Given the description of an element on the screen output the (x, y) to click on. 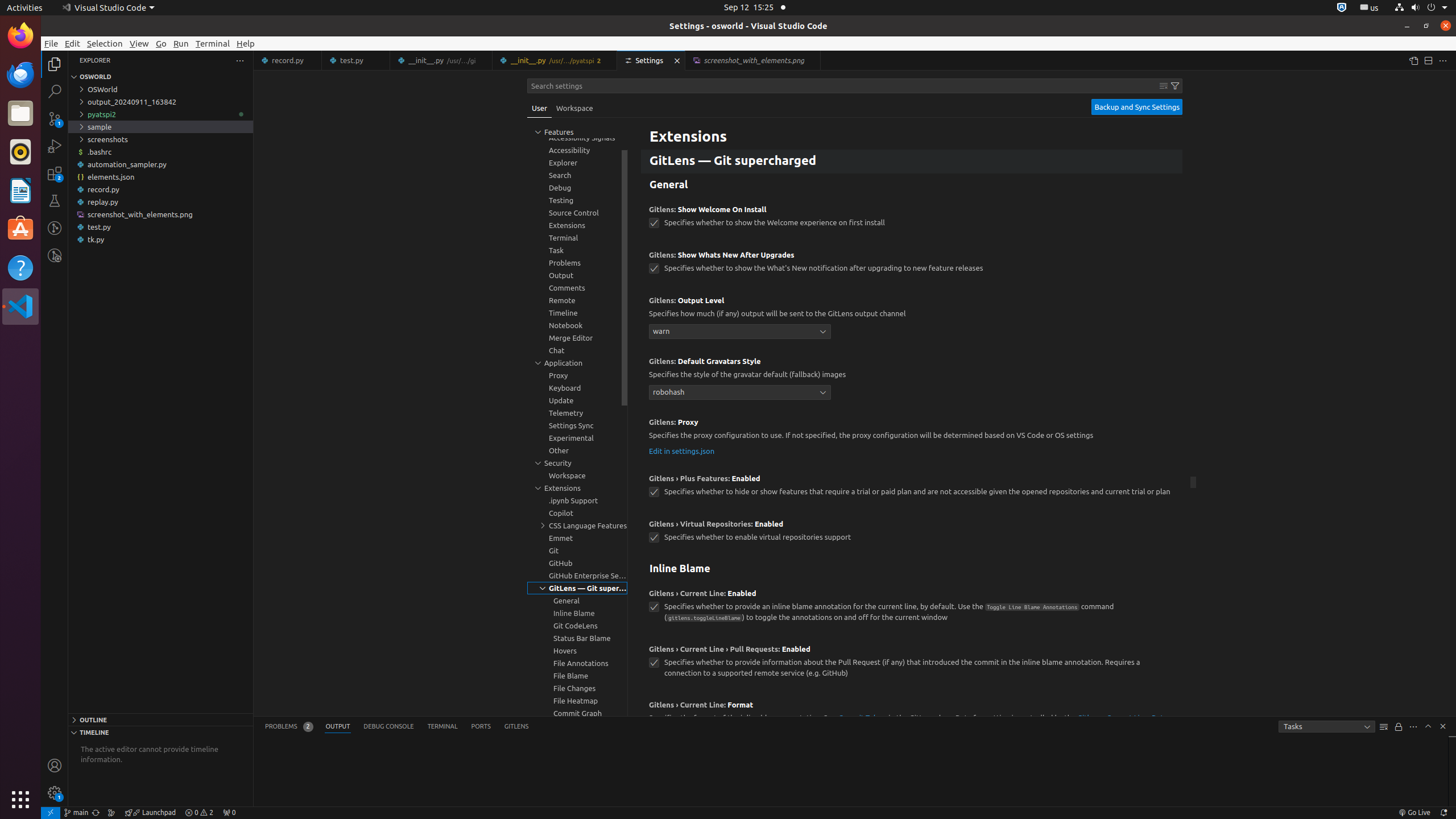
Clear Settings Search Input Element type: push-button (1163, 85)
screenshot_with_elements.png Element type: tree-item (160, 214)
Accessibility Signals, group Element type: tree-item (577, 137)
Remote, group Element type: tree-item (577, 300)
OSWorld Element type: tree-item (160, 89)
